Given the description of an element on the screen output the (x, y) to click on. 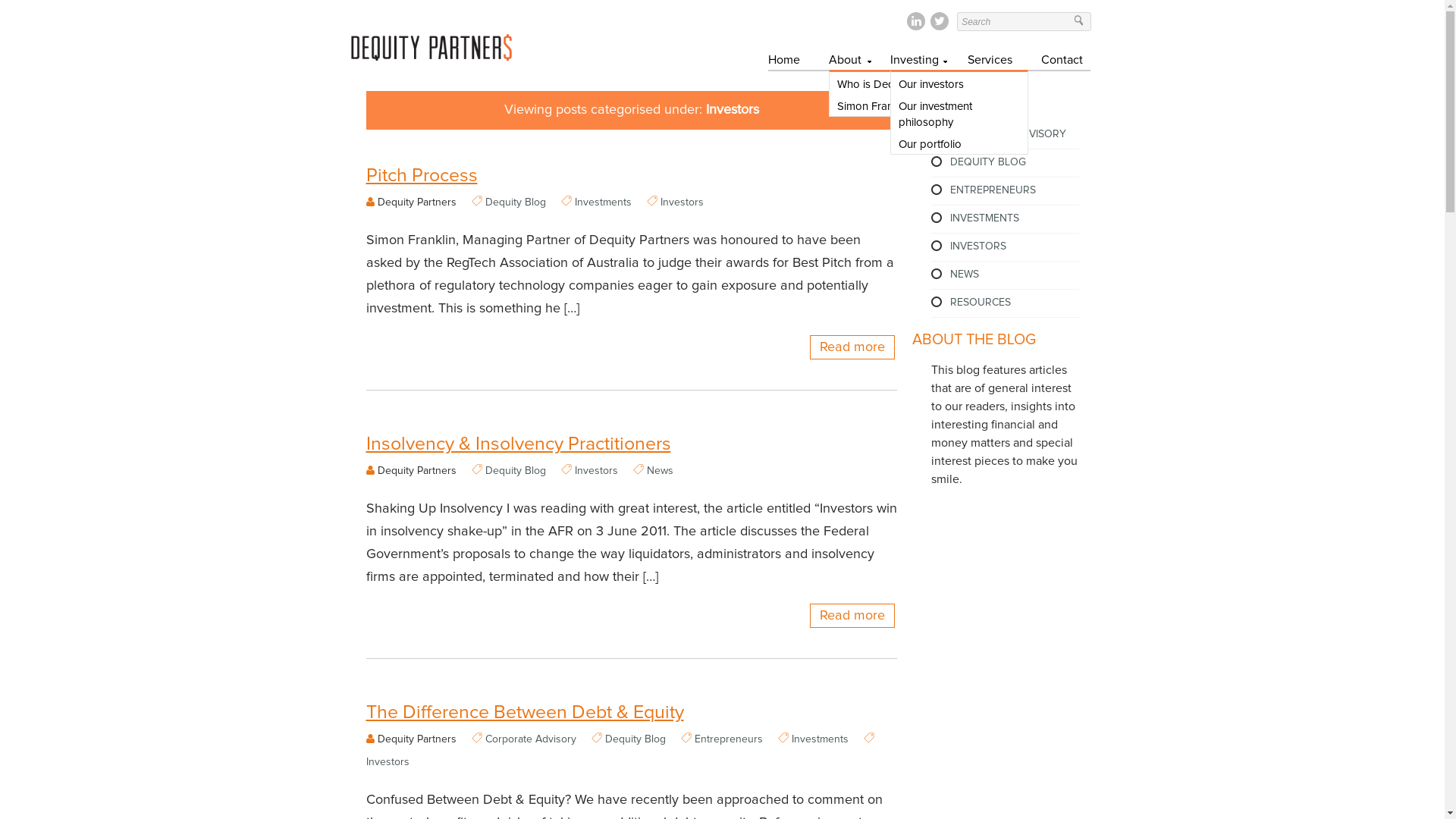
Who is Dequity Element type: text (897, 83)
Our investment philosophy Element type: text (959, 112)
INVESTMENTS Element type: text (983, 218)
News Element type: text (659, 470)
Investing Element type: text (914, 61)
Investments Element type: text (602, 202)
Investments Element type: text (819, 739)
Simon Franklin Element type: text (897, 105)
Home Element type: text (784, 61)
Pitch Process Element type: text (630, 172)
Investors Element type: text (680, 202)
NEWS Element type: text (963, 274)
Investors Element type: text (386, 761)
Our investors Element type: text (959, 83)
INVESTORS Element type: text (977, 246)
Services Element type: text (989, 61)
Insolvency & Insolvency Practitioners Element type: text (630, 440)
About Element type: text (844, 61)
The Difference Between Debt & Equity Element type: text (630, 708)
Dequity Blog Element type: text (515, 470)
Our portfolio Element type: text (959, 142)
Read more Element type: text (851, 347)
Dequity Blog Element type: text (515, 202)
DEQUITY BLOG Element type: text (987, 161)
ENTREPRENEURS Element type: text (992, 190)
Entrepreneurs Element type: text (728, 739)
Dequity Blog Element type: text (635, 739)
Contact Element type: text (1061, 61)
Corporate Advisory Element type: text (530, 739)
Read more Element type: text (851, 615)
Investors Element type: text (596, 470)
CORPORATE ADVISORY Element type: text (1007, 133)
RESOURCES Element type: text (979, 302)
